Given the description of an element on the screen output the (x, y) to click on. 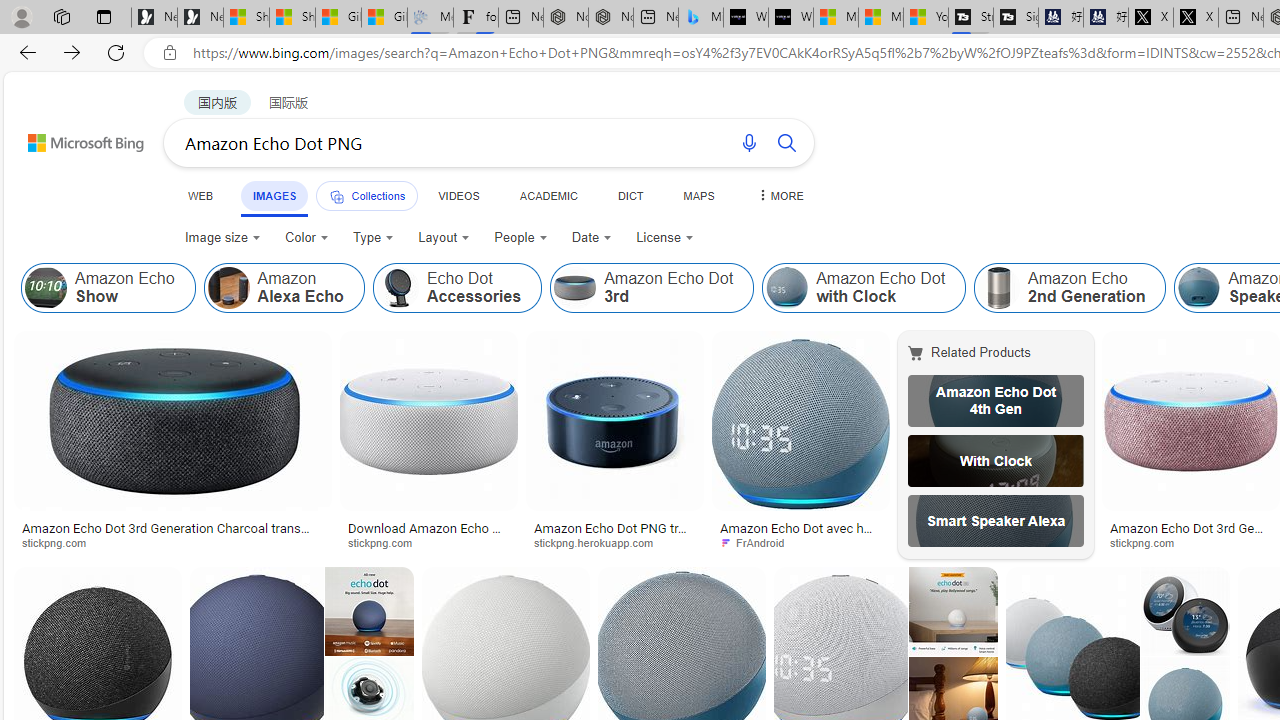
Amazon Echo Dot with Clock (786, 287)
Amazon Echo Dot 4th Gen (995, 400)
WEB (201, 195)
FrAndroid (800, 542)
stickpng.herokuapp.com (614, 542)
Amazon Echo Show (45, 287)
Type (373, 237)
WEB (201, 195)
Amazon Echo Dot with Clock (864, 287)
Image result for Amazon Echo Dot PNG (1191, 421)
